Given the description of an element on the screen output the (x, y) to click on. 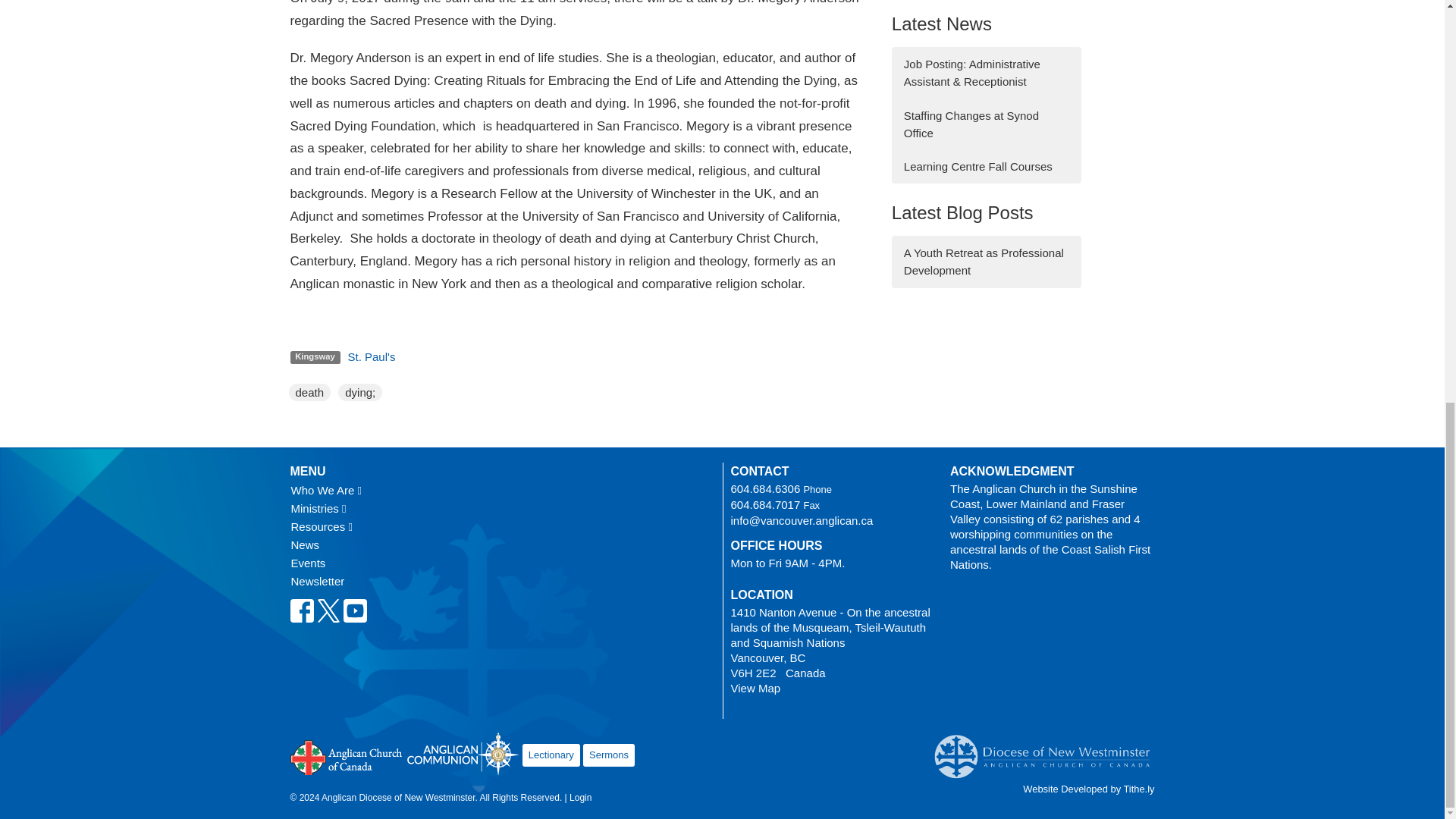
death (309, 392)
St. Paul's (371, 356)
Twitter Icon (328, 610)
Facebook Icon (301, 610)
dying; (360, 392)
Youtube Icon (354, 610)
